Given the description of an element on the screen output the (x, y) to click on. 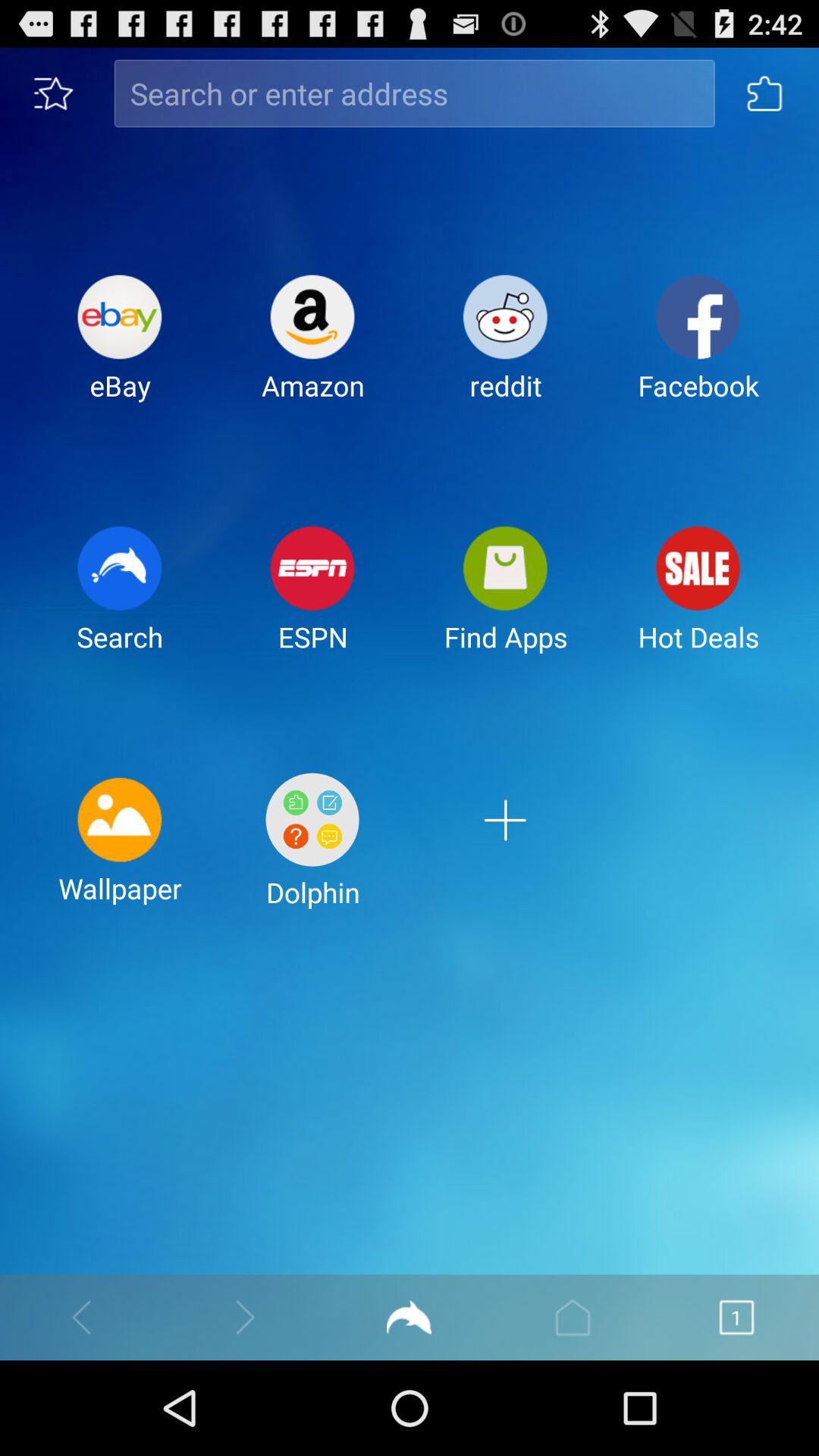
turn on espn item (312, 601)
